Given the description of an element on the screen output the (x, y) to click on. 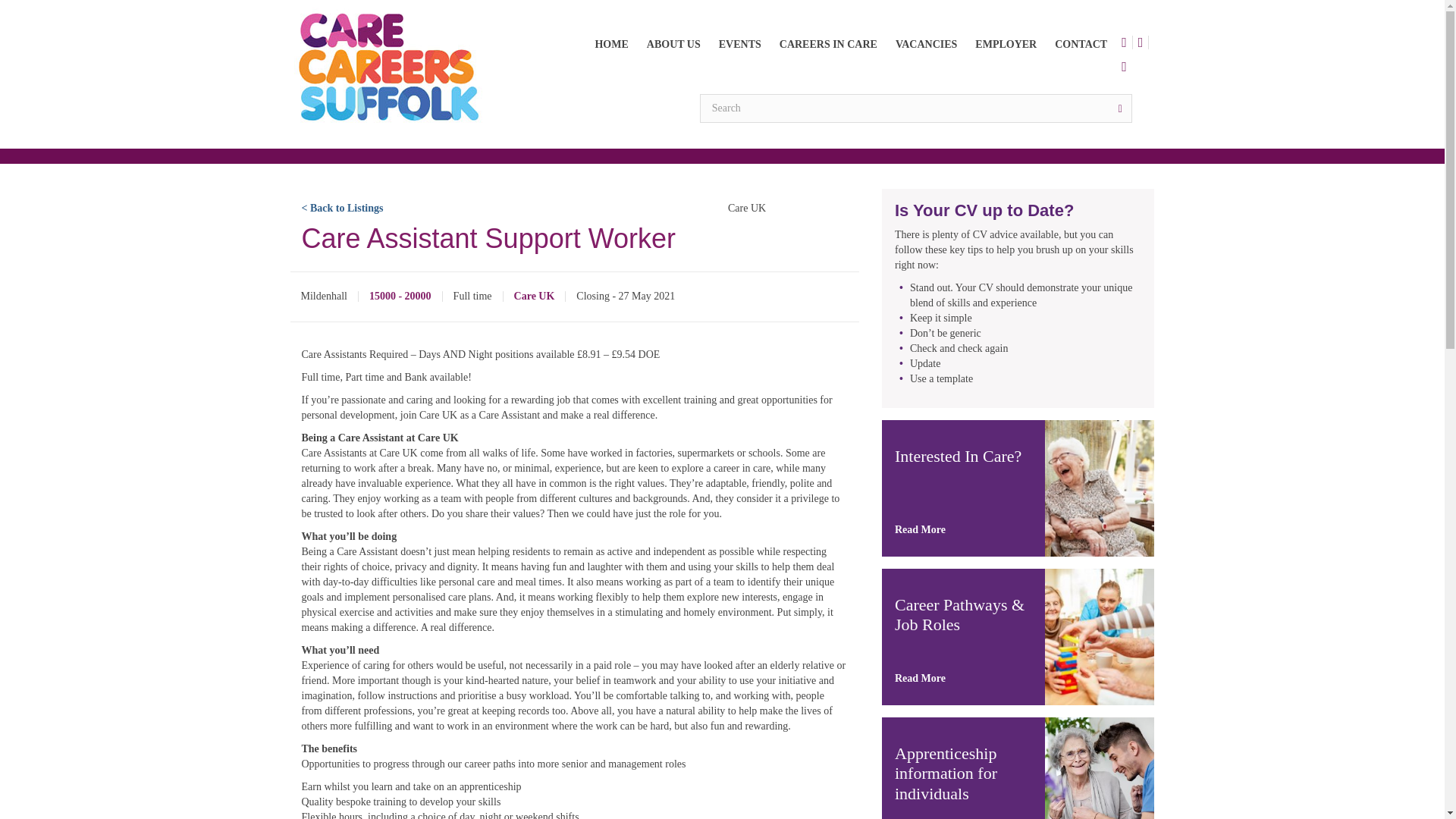
HOME (611, 44)
VACANCIES (926, 44)
EVENTS (740, 44)
EMPLOYER (1005, 44)
CONTACT (1080, 44)
CAREERS IN CARE (828, 44)
ABOUT US (673, 44)
